Given the description of an element on the screen output the (x, y) to click on. 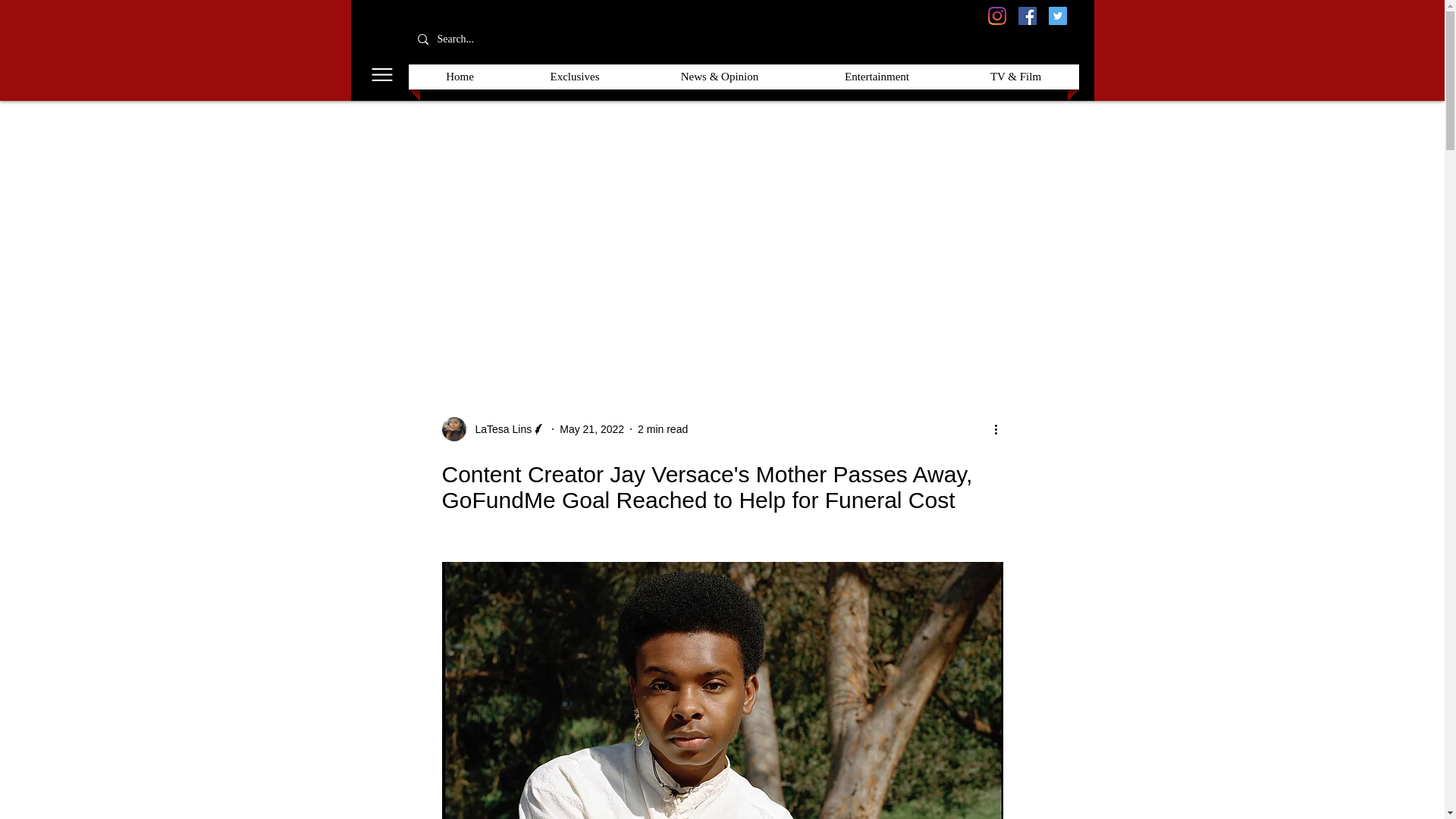
Entertainment (877, 76)
LaTesa Lins (498, 429)
News (1014, 325)
Home (460, 76)
Fashion (879, 325)
2 min read (662, 428)
Entertainment (679, 325)
Feature Spotlight (787, 325)
Lifestyle (950, 325)
Recent Articles (402, 325)
May 21, 2022 (591, 428)
Exclusives (574, 76)
LaTesa Lins (493, 428)
Exclusives (496, 325)
